Given the description of an element on the screen output the (x, y) to click on. 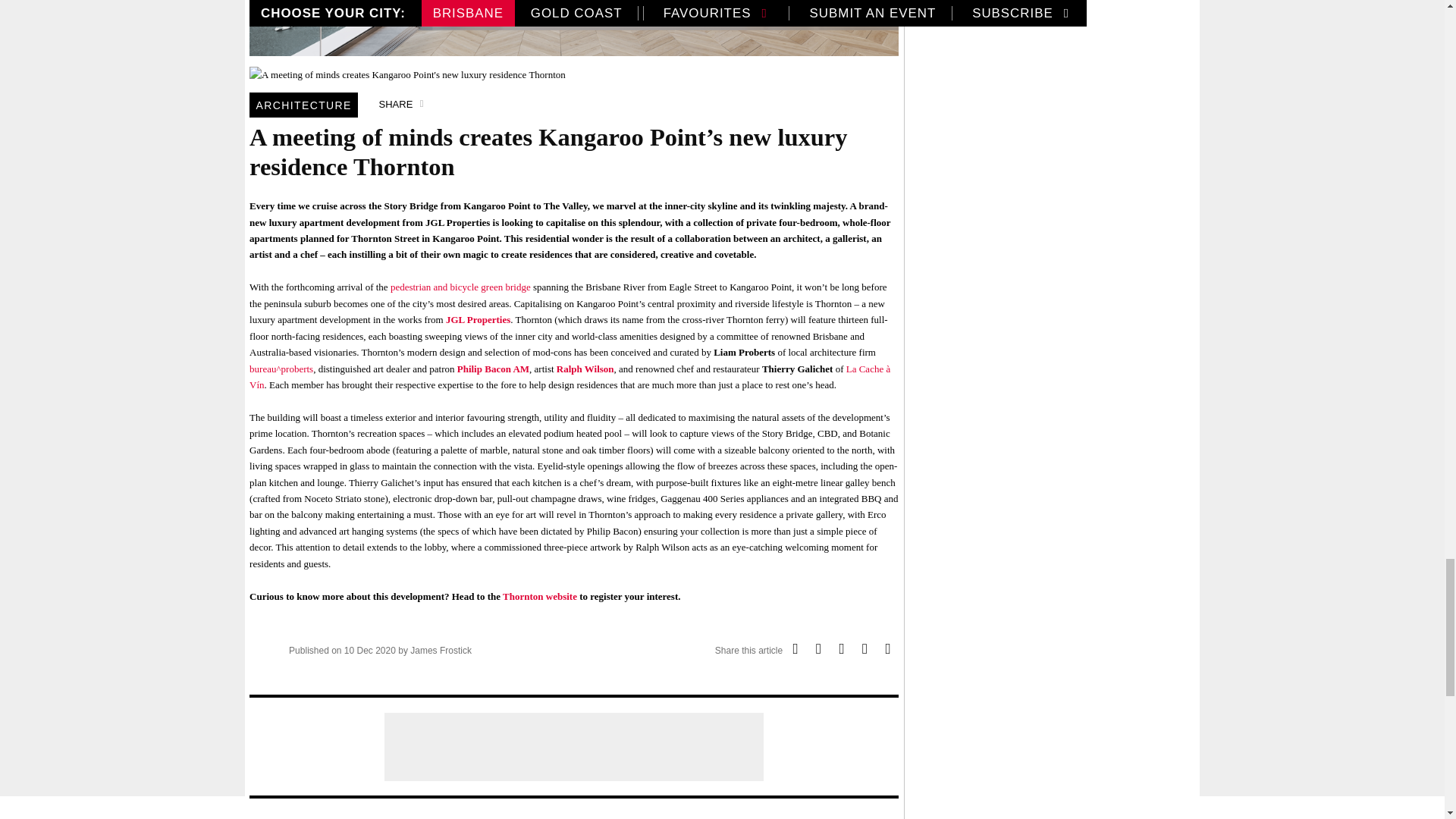
JGL Properties (478, 319)
Philip Bacon AM (493, 368)
Thornton website (539, 595)
ARCHITECTURE (303, 104)
pedestrian and bicycle green bridge (460, 286)
SHARE (402, 104)
Ralph Wilson (585, 368)
